Given the description of an element on the screen output the (x, y) to click on. 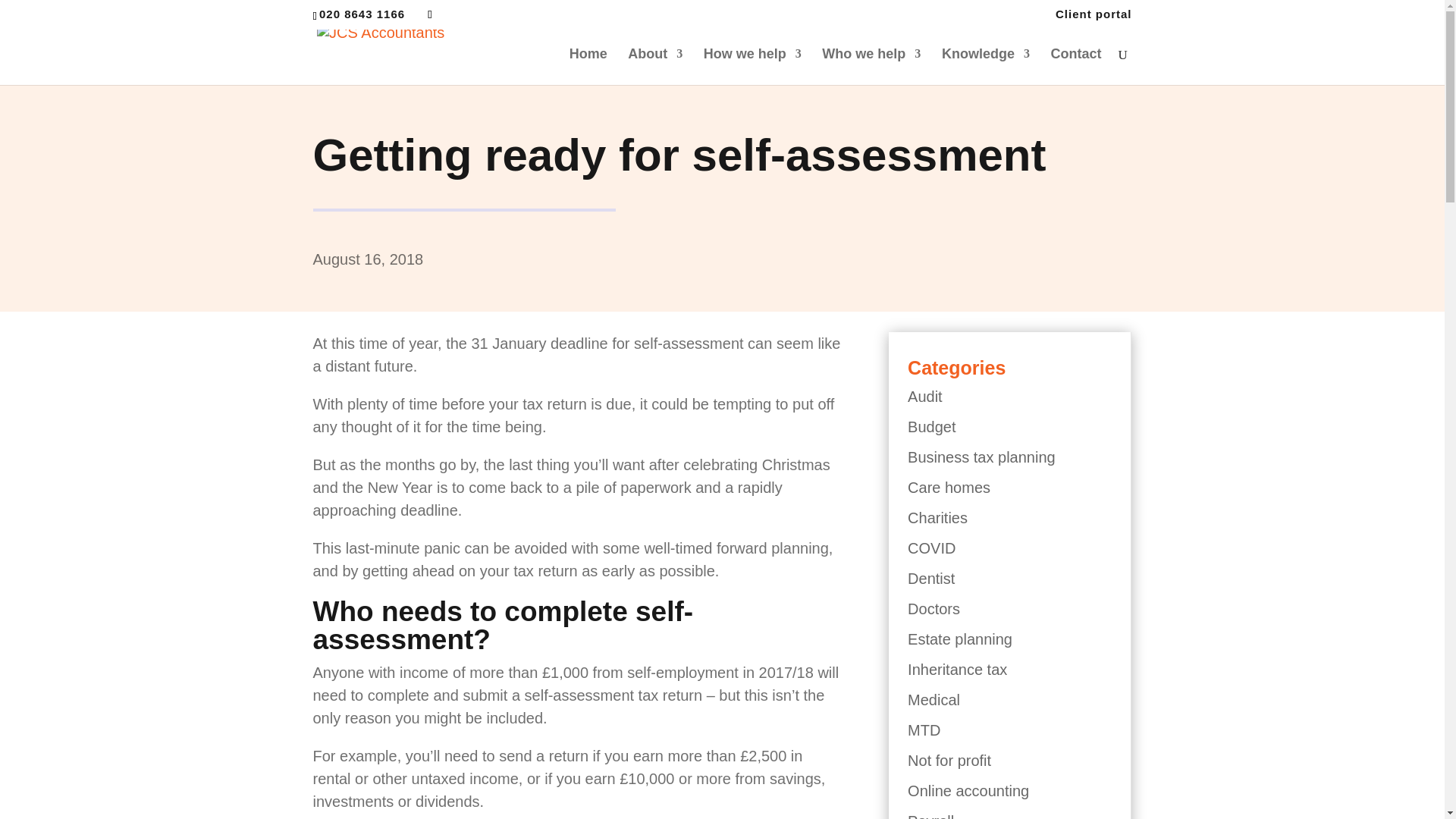
020 8643 1166 (363, 13)
